Given the description of an element on the screen output the (x, y) to click on. 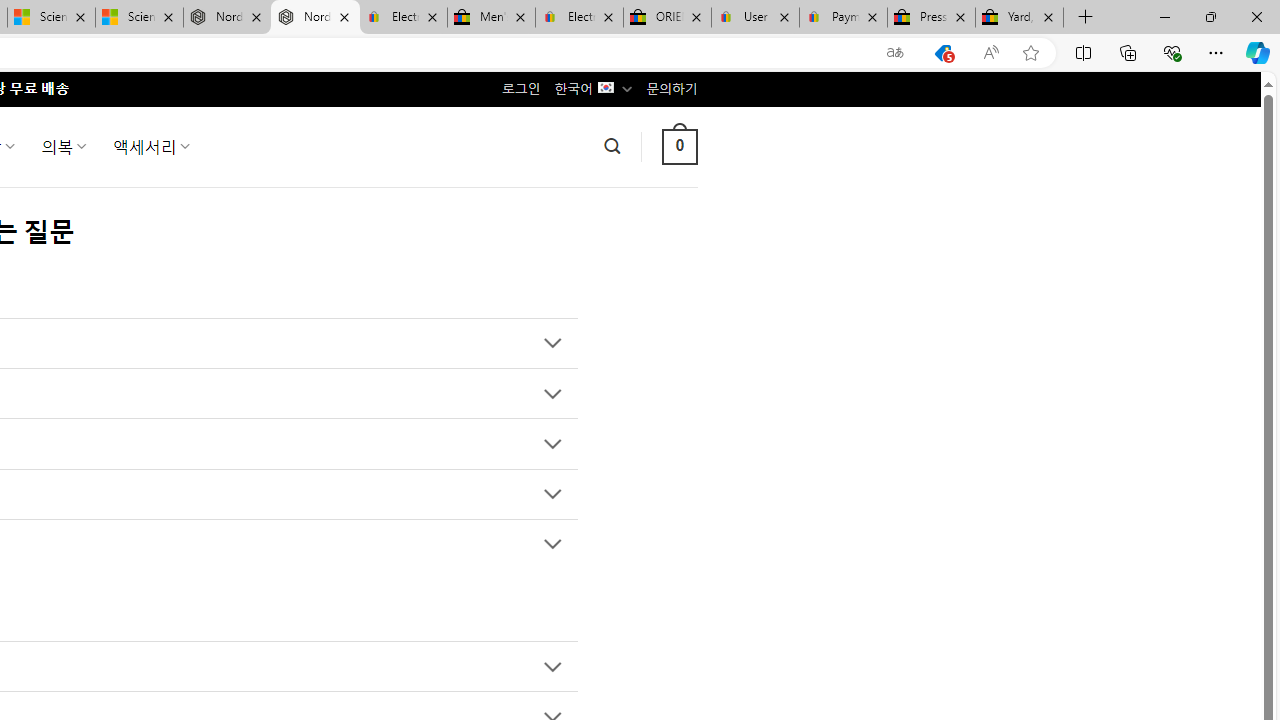
Payments Terms of Use | eBay.com (843, 17)
User Privacy Notice | eBay (754, 17)
 0  (679, 146)
